Given the description of an element on the screen output the (x, y) to click on. 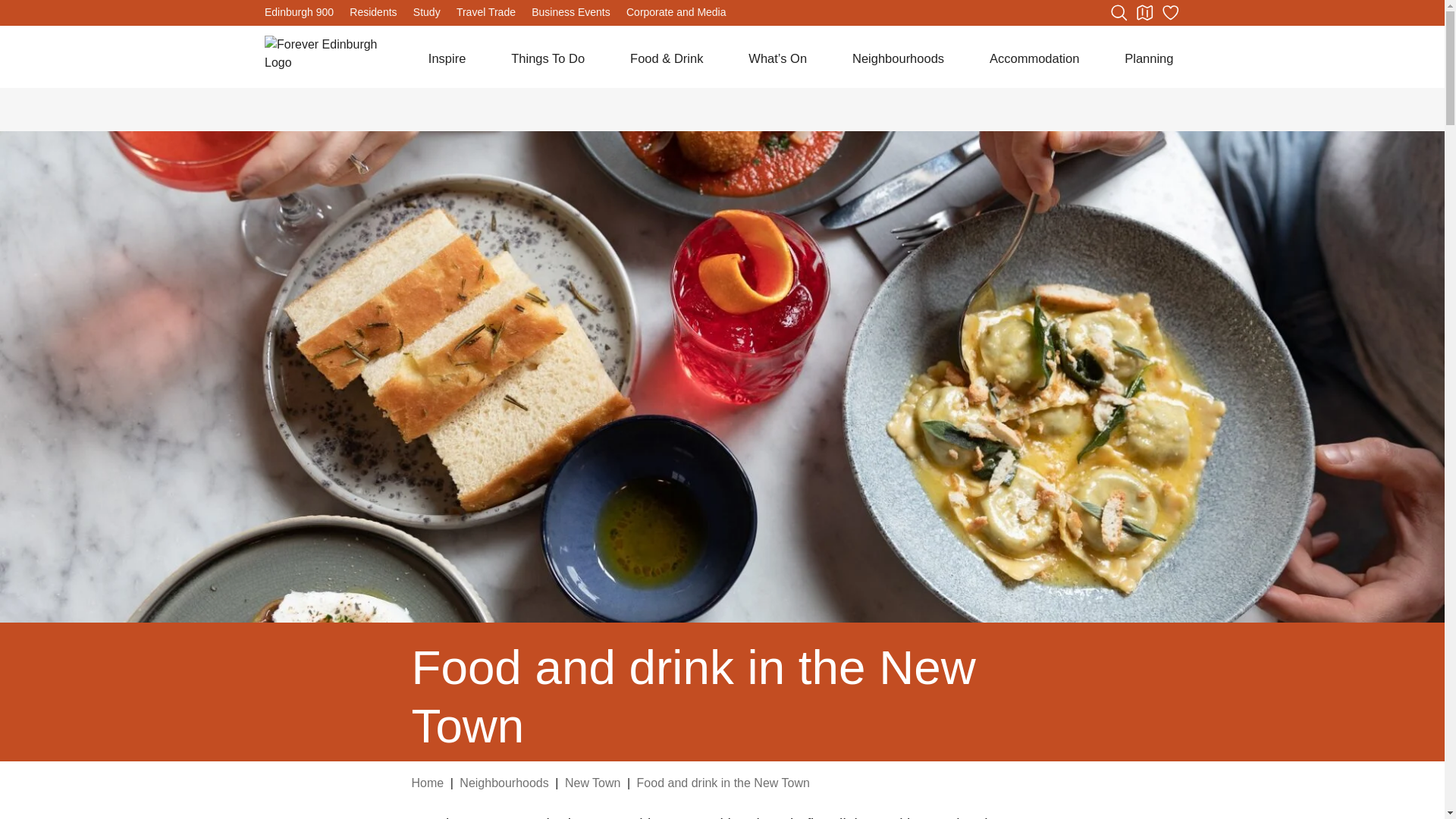
Favourites (1169, 12)
Residents (372, 11)
Edinburgh 900 (298, 11)
Planning (1148, 58)
Accommodation (1033, 58)
Things To Do (548, 58)
Corporate and Media (676, 11)
Study (427, 11)
Map (1144, 12)
Travel Trade (486, 11)
